Given the description of an element on the screen output the (x, y) to click on. 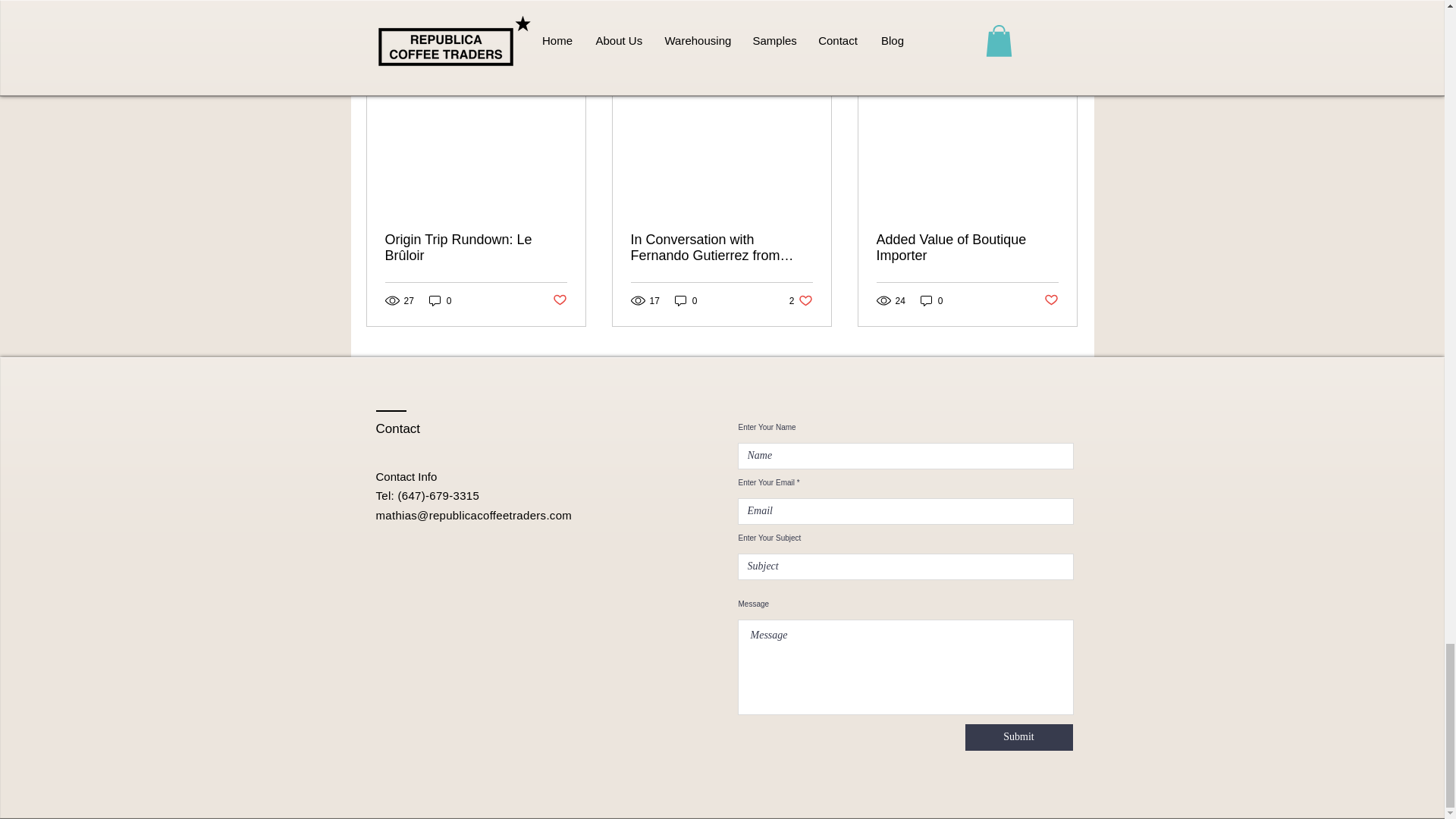
Submit (1017, 737)
See All (1061, 64)
0 (685, 300)
0 (440, 300)
Post not marked as liked (1050, 300)
Post not marked as liked (558, 300)
0 (931, 300)
In Conversation with Fernando Gutierrez from Finca Las Nubes (721, 247)
Added Value of Boutique Importer (967, 247)
